Given the description of an element on the screen output the (x, y) to click on. 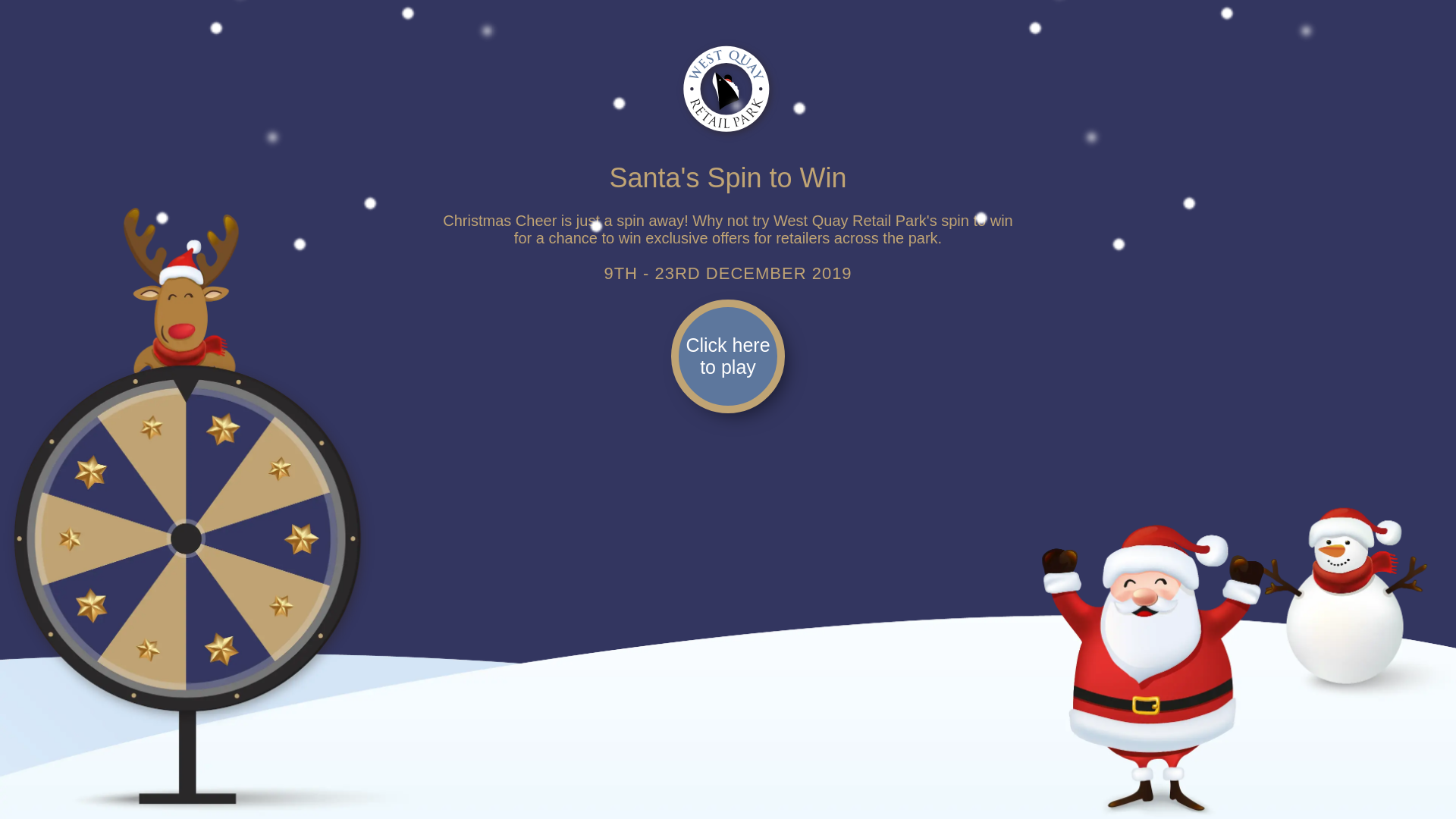
West Quay Retail Park (727, 90)
Click here to play (727, 356)
